Given the description of an element on the screen output the (x, y) to click on. 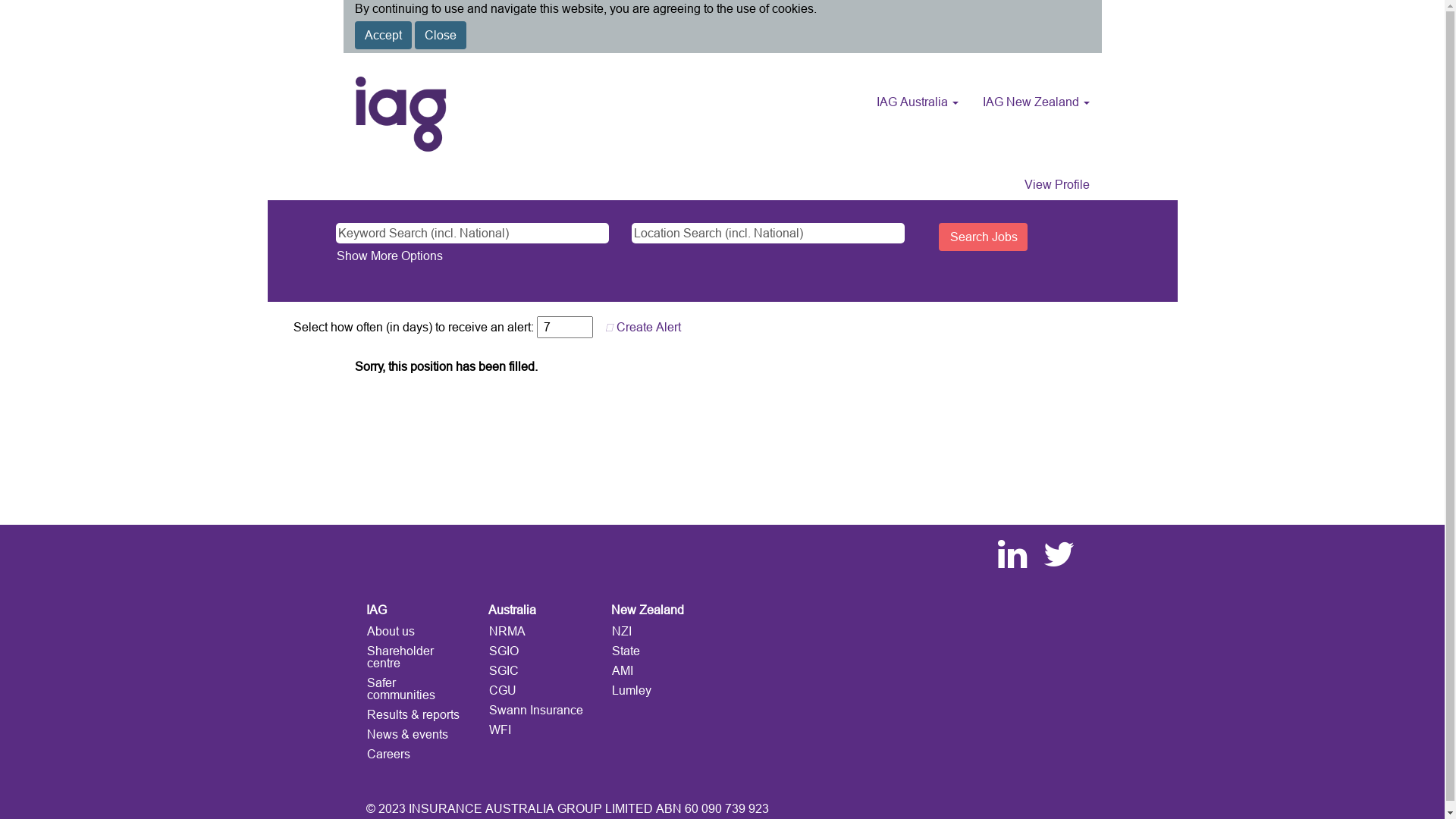
IAG Australia Element type: text (916, 101)
Create Alert Element type: text (642, 326)
Search Jobs Element type: text (982, 236)
Safer communities Element type: text (415, 688)
NRMA Element type: text (538, 630)
SGIC Element type: text (538, 670)
IAG Careers Home Element type: hover (400, 114)
SGIO Element type: text (538, 650)
Swann Insurance Element type: text (538, 709)
Lumley Element type: text (661, 689)
About us Element type: text (415, 630)
Accept Element type: text (382, 35)
View Profile Element type: text (1056, 184)
Results & reports Element type: text (415, 714)
Careers Element type: text (415, 753)
NZI Element type: text (661, 630)
State Element type: text (661, 650)
Show More Options Element type: text (388, 255)
AMI Element type: text (661, 670)
linkedin Element type: hover (1011, 555)
IAG New Zealand Element type: text (1035, 101)
Shareholder centre Element type: text (415, 656)
News & events Element type: text (415, 733)
Close Element type: text (439, 35)
WFI Element type: text (538, 729)
twitter Element type: hover (1058, 555)
CGU Element type: text (538, 689)
